Given the description of an element on the screen output the (x, y) to click on. 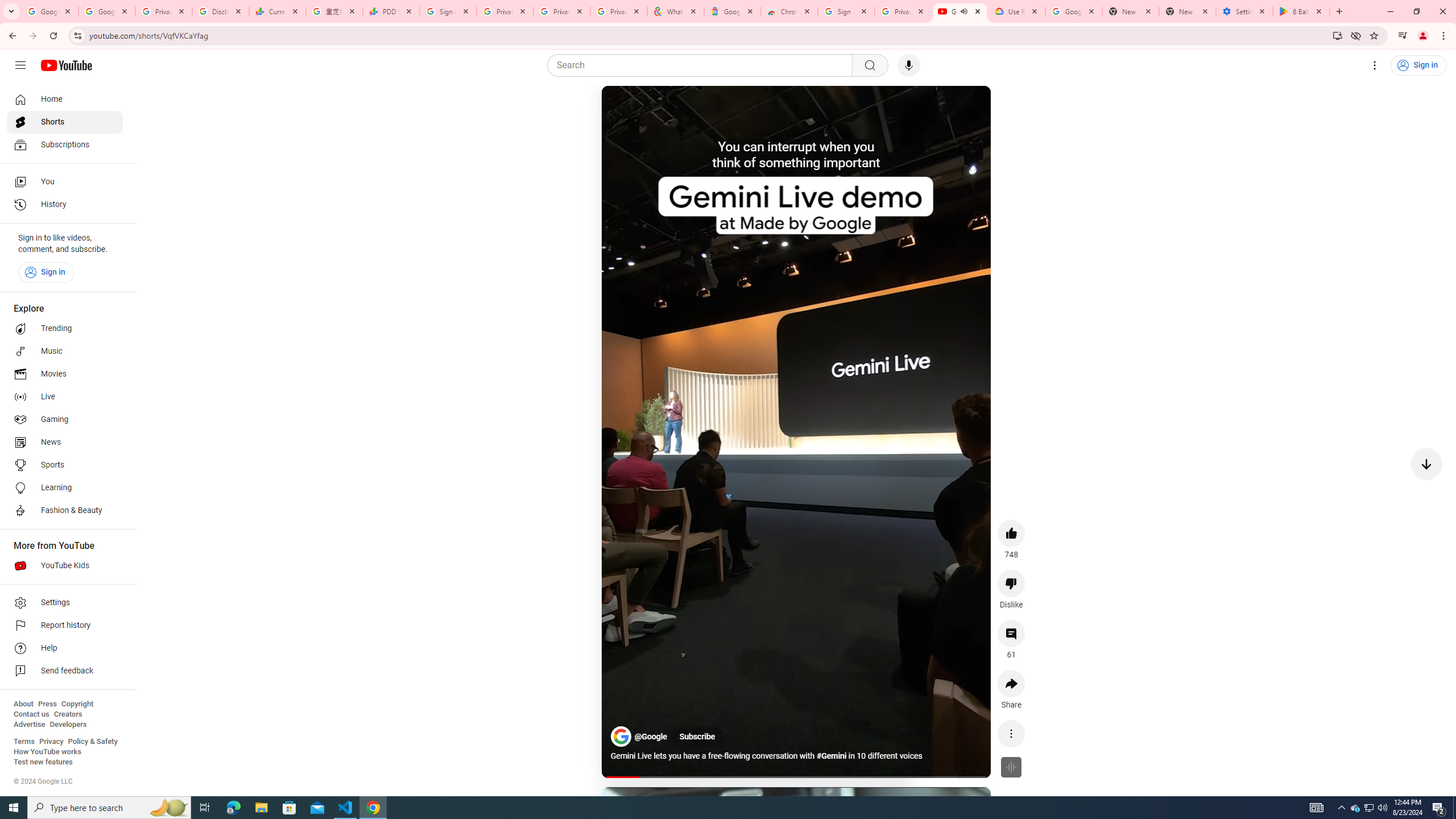
Copyright (77, 703)
Movies (64, 373)
Trending (64, 328)
Send feedback (64, 671)
PDD Holdings Inc - ADR (PDD) Price & News - Google Finance (391, 11)
Gaming (64, 419)
Settings - System (1244, 11)
